Given the description of an element on the screen output the (x, y) to click on. 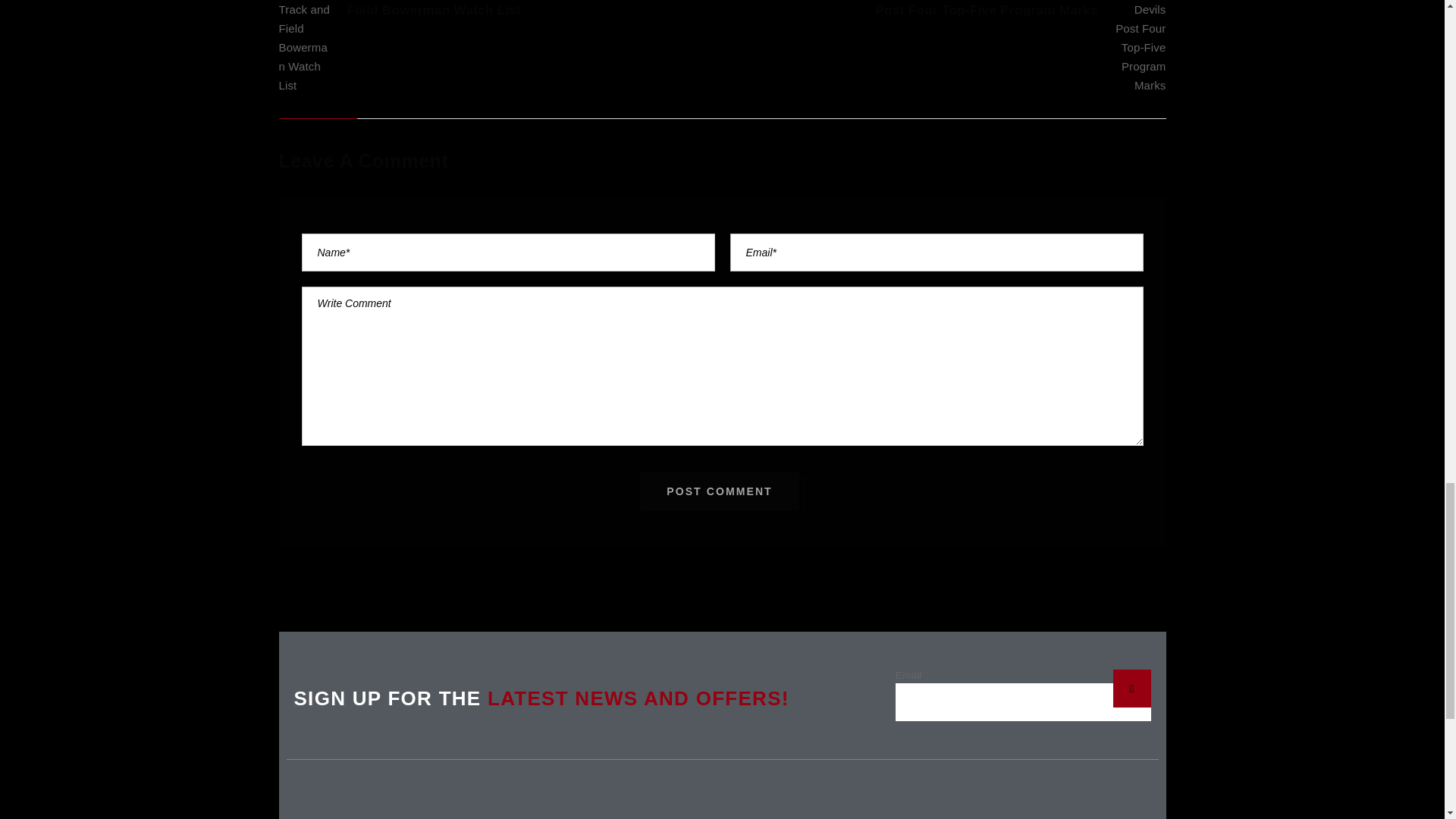
POST COMMENT (719, 491)
Subscribe (1132, 688)
Subscribe (1132, 688)
